Given the description of an element on the screen output the (x, y) to click on. 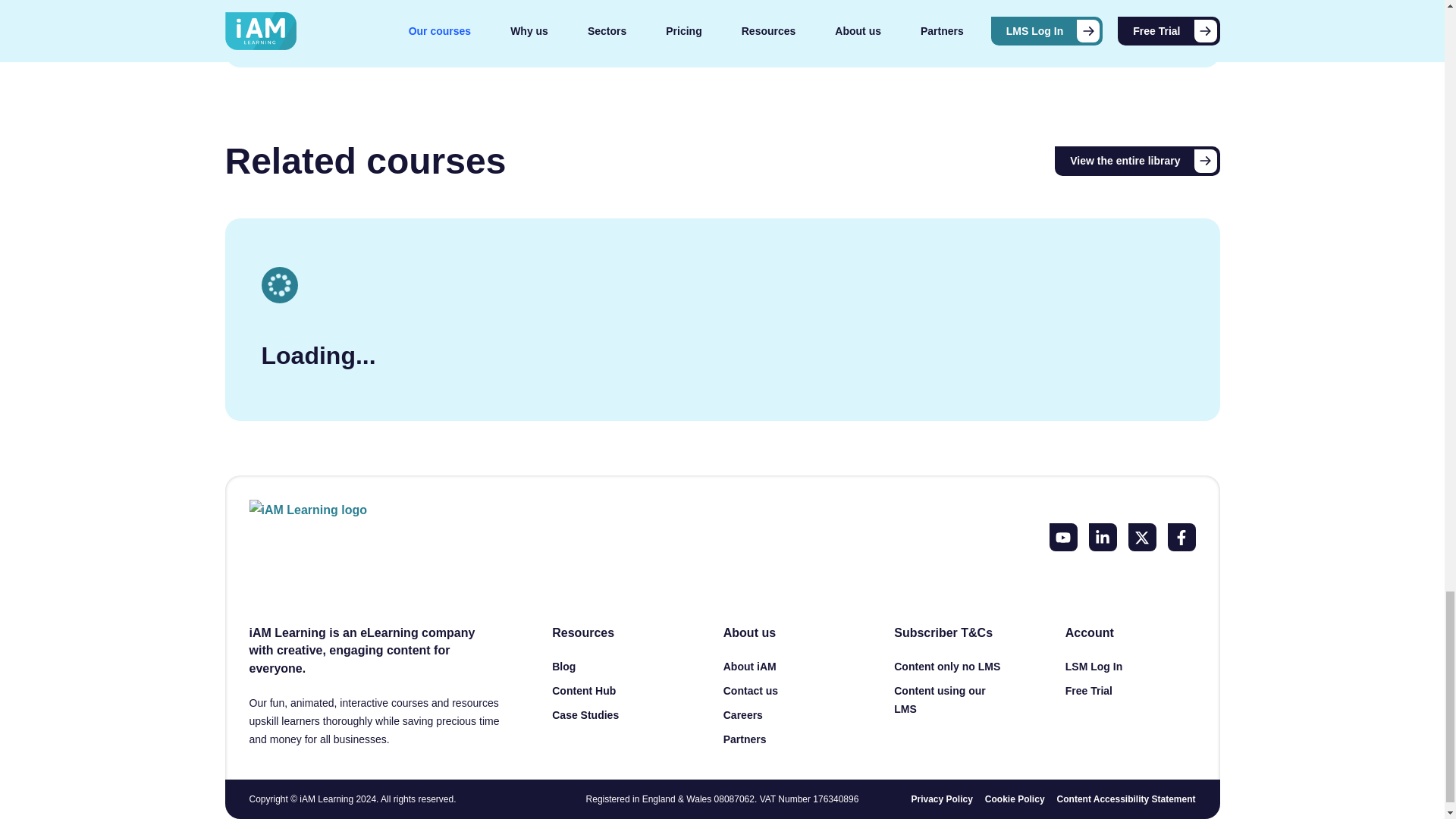
About iAM (749, 666)
Case Studies (584, 715)
View the entire library (1137, 160)
Content Hub (583, 690)
Contact us (750, 690)
Careers (742, 715)
Blog (563, 666)
